Given the description of an element on the screen output the (x, y) to click on. 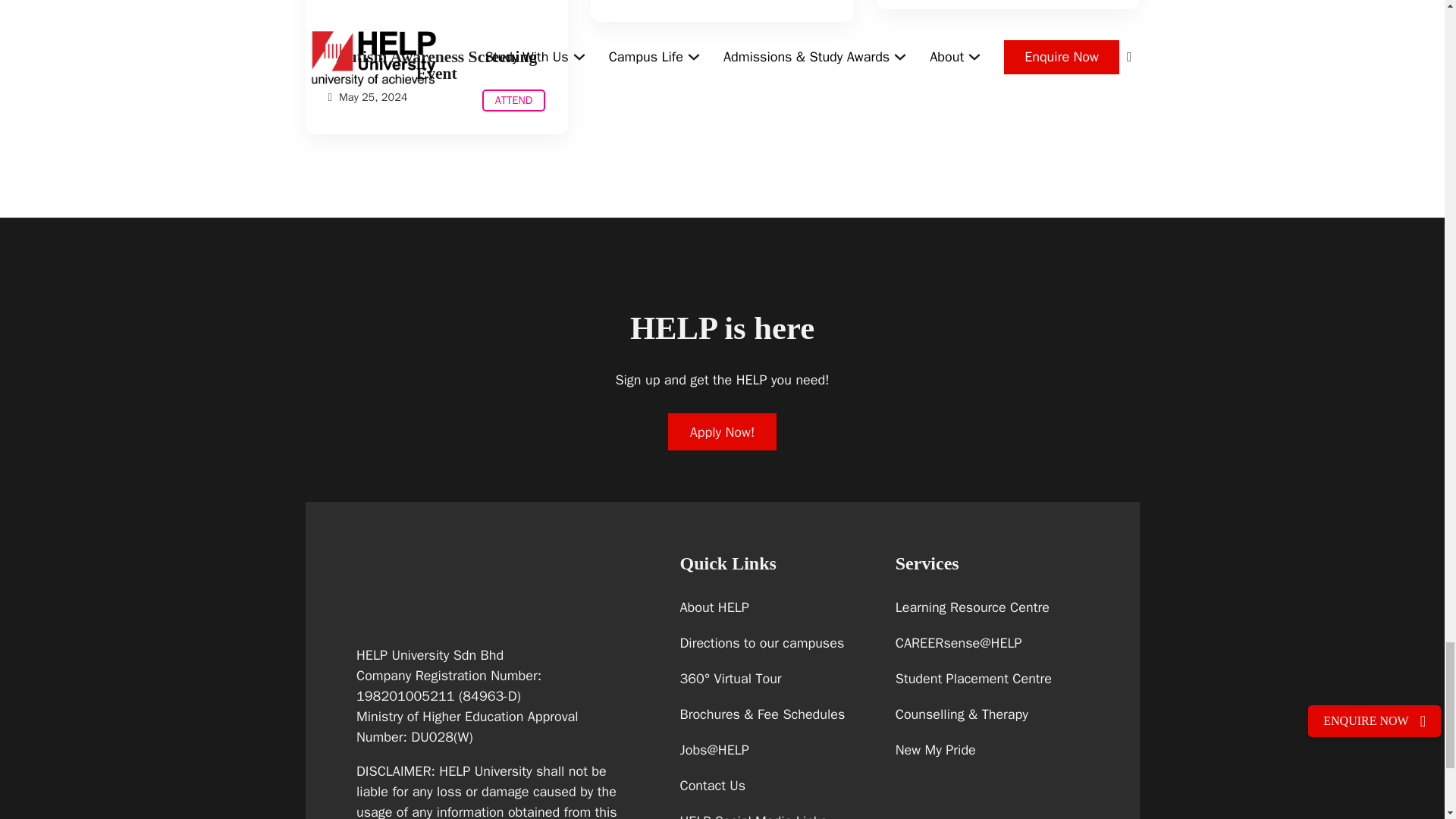
Autism Awareness Screening Event (512, 100)
